Given the description of an element on the screen output the (x, y) to click on. 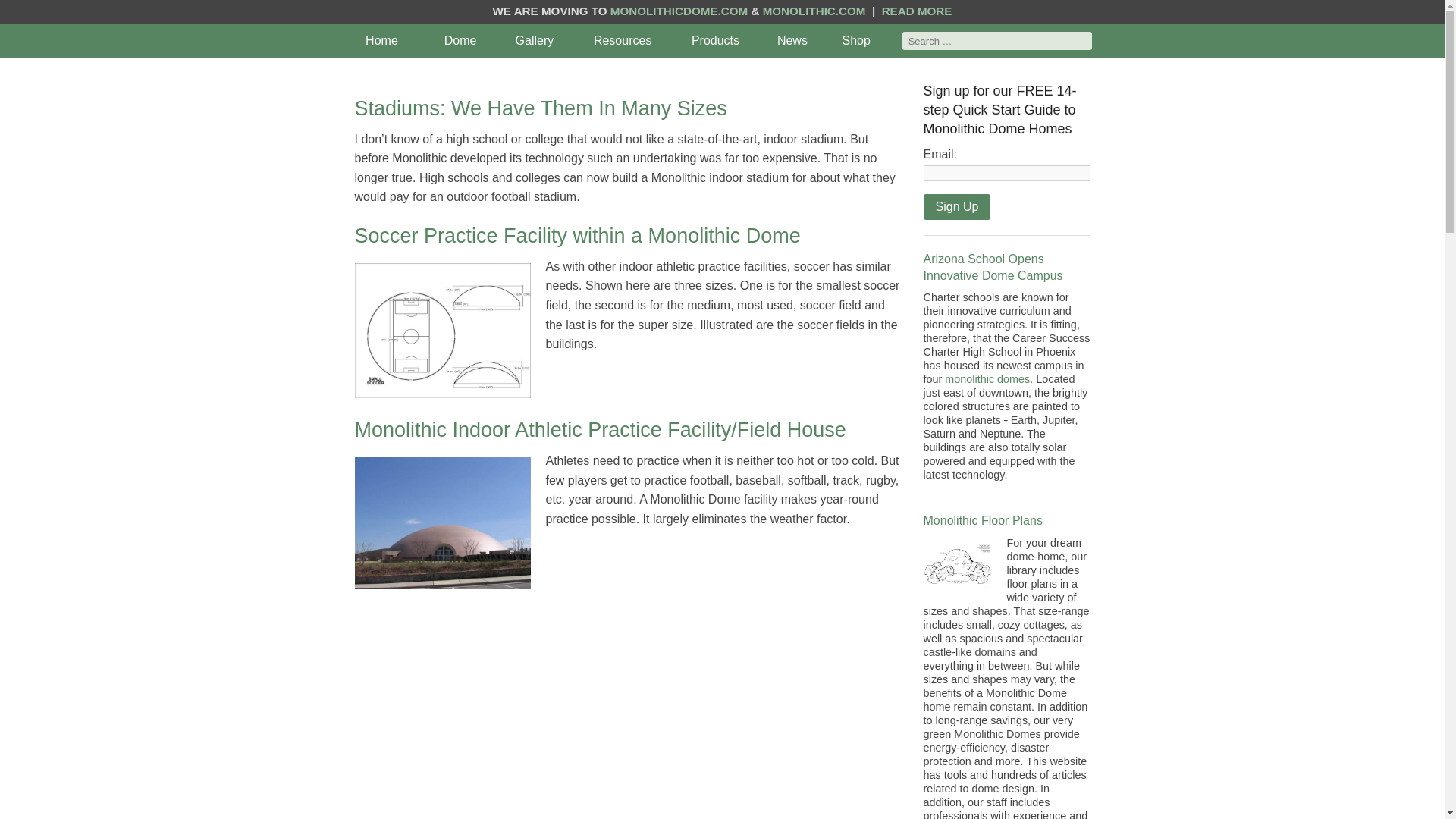
MONOLITHIC.COM (814, 10)
MONOLITHICDOME.COM (679, 10)
READ MORE (917, 10)
